Given the description of an element on the screen output the (x, y) to click on. 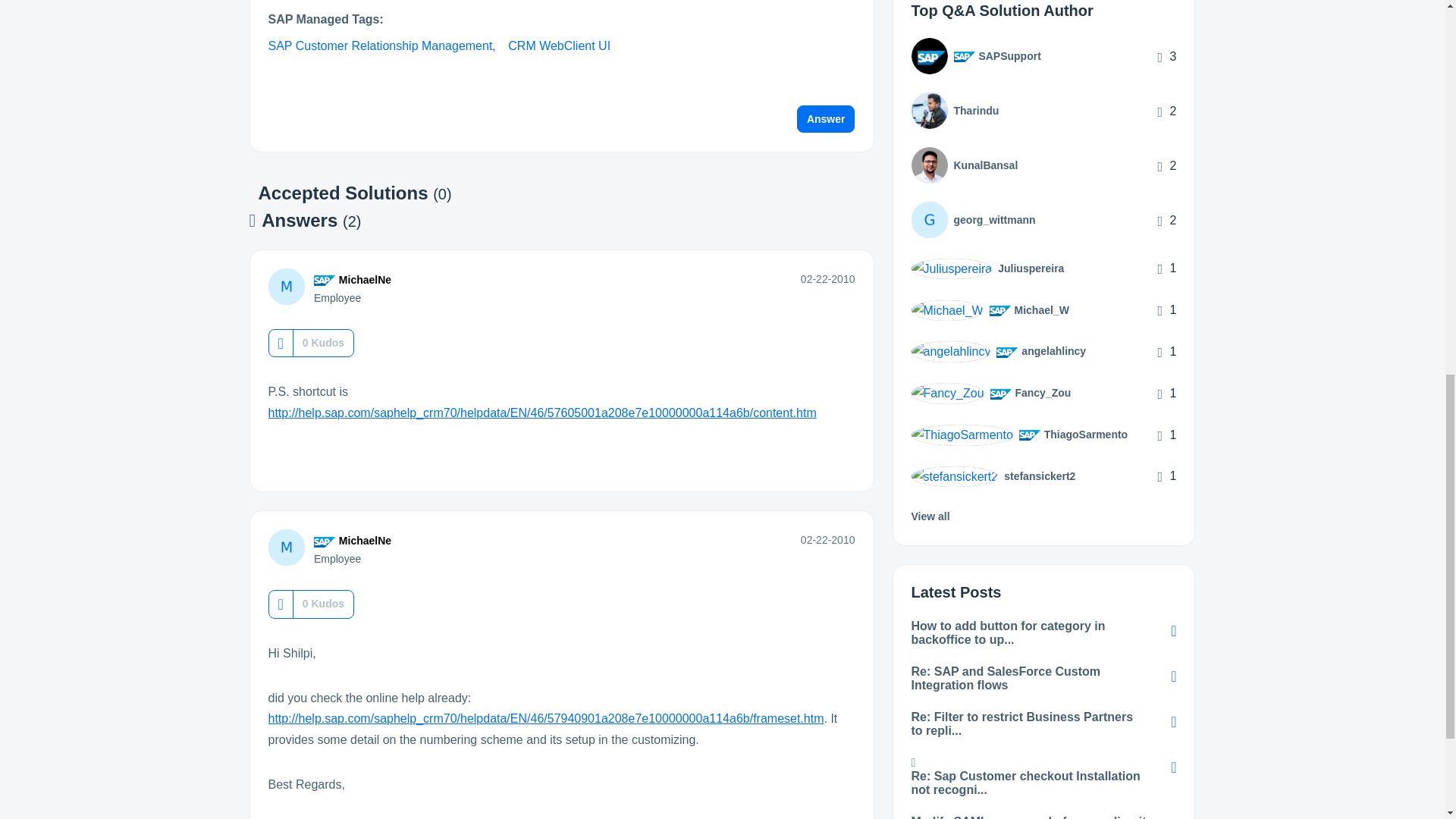
MichaelNe (285, 286)
Answer (826, 118)
SAP Customer Relationship Management (380, 45)
Employee (325, 280)
CRM WebClient UI (559, 45)
MichaelNe (365, 279)
